Given the description of an element on the screen output the (x, y) to click on. 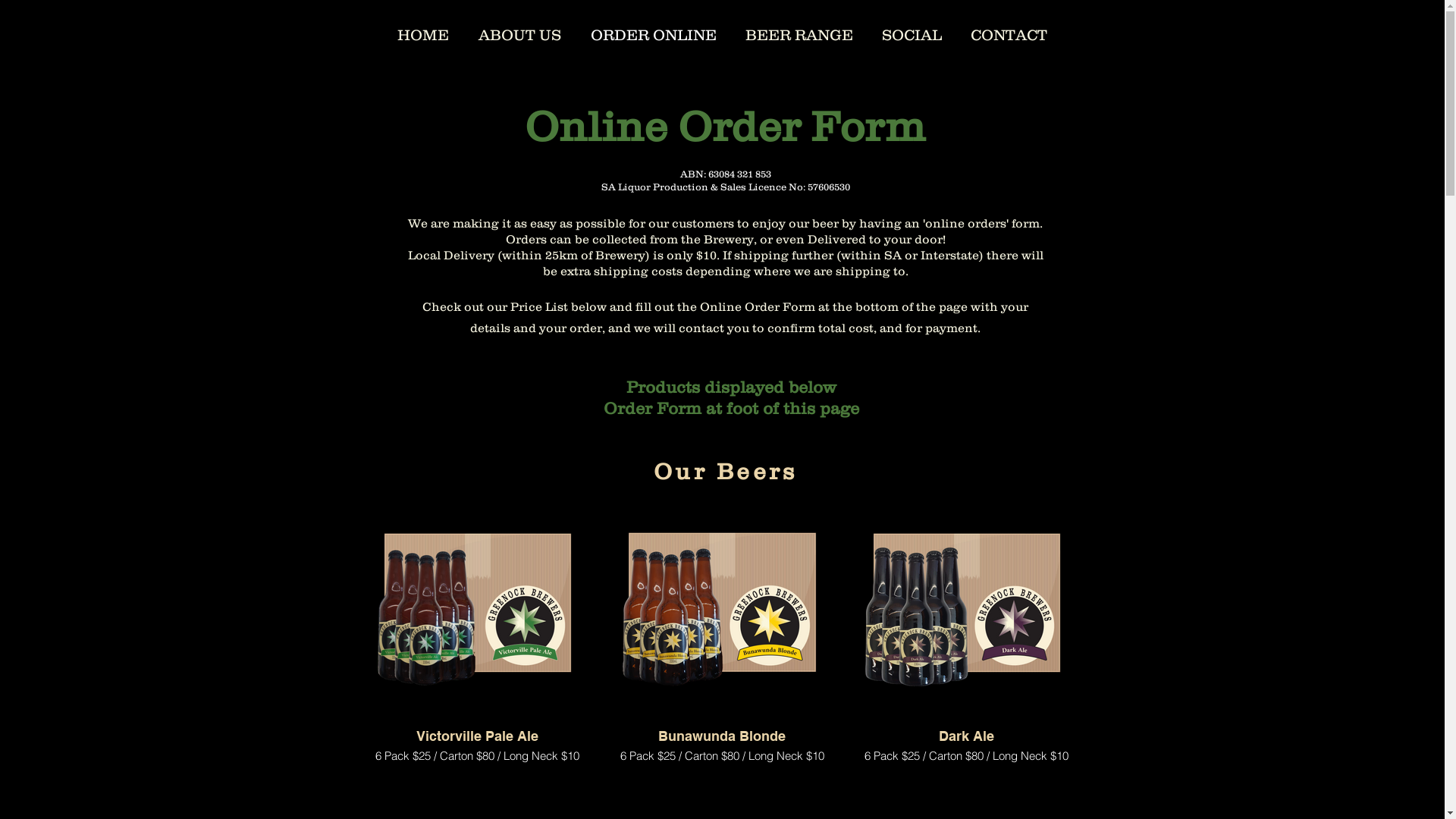
SOCIAL Element type: text (911, 33)
ORDER ONLINE Element type: text (653, 33)
BEER RANGE Element type: text (799, 33)
CONTACT Element type: text (1007, 33)
HOME Element type: text (422, 33)
ABOUT US Element type: text (520, 33)
